Given the description of an element on the screen output the (x, y) to click on. 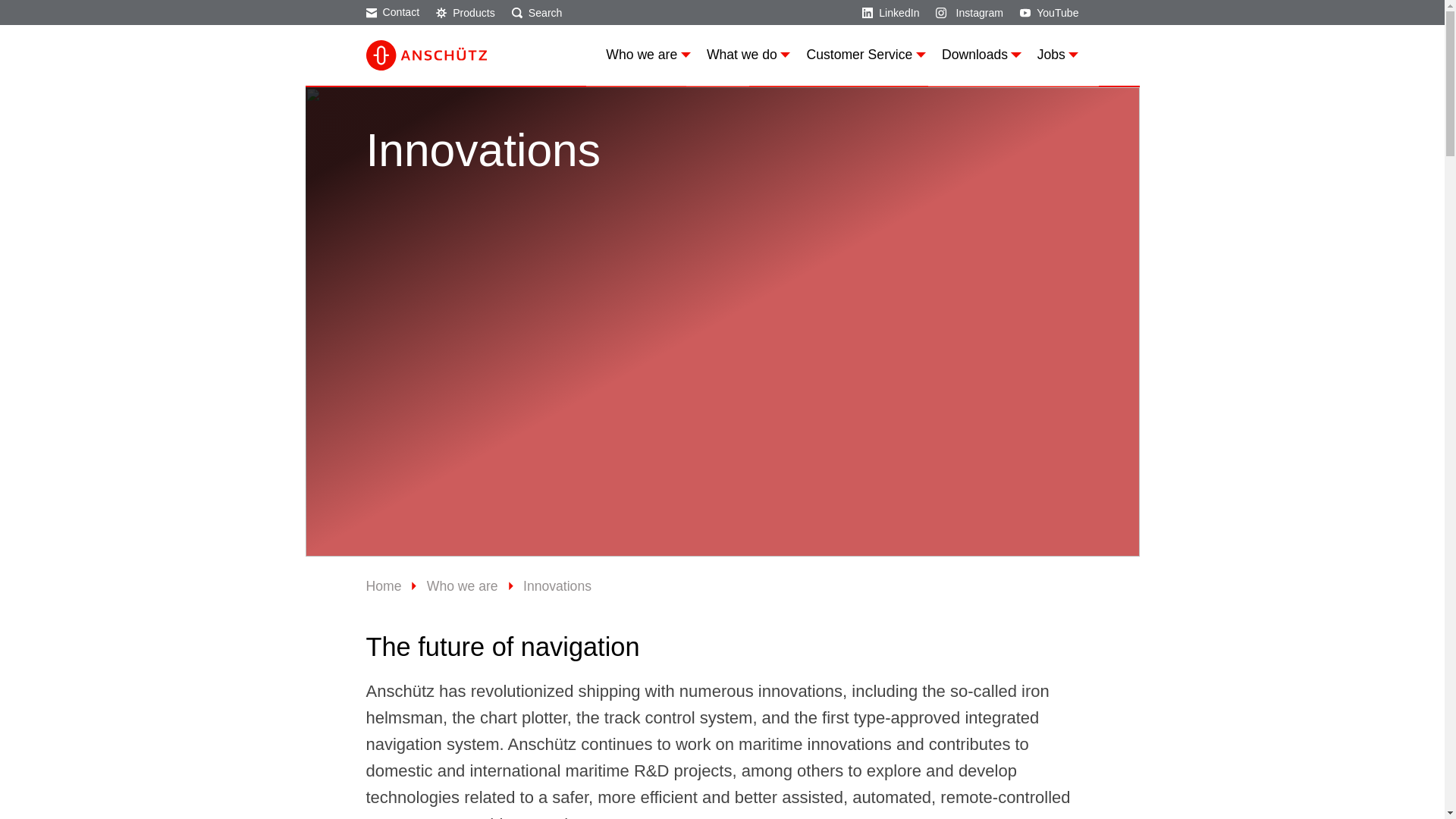
What we do (748, 54)
Contact (392, 11)
Customer Service (865, 54)
Instagram (969, 11)
Products (465, 11)
Who we are (647, 54)
YouTube (1049, 11)
Search (537, 11)
What we do (748, 54)
LinkedIn (889, 11)
